Given the description of an element on the screen output the (x, y) to click on. 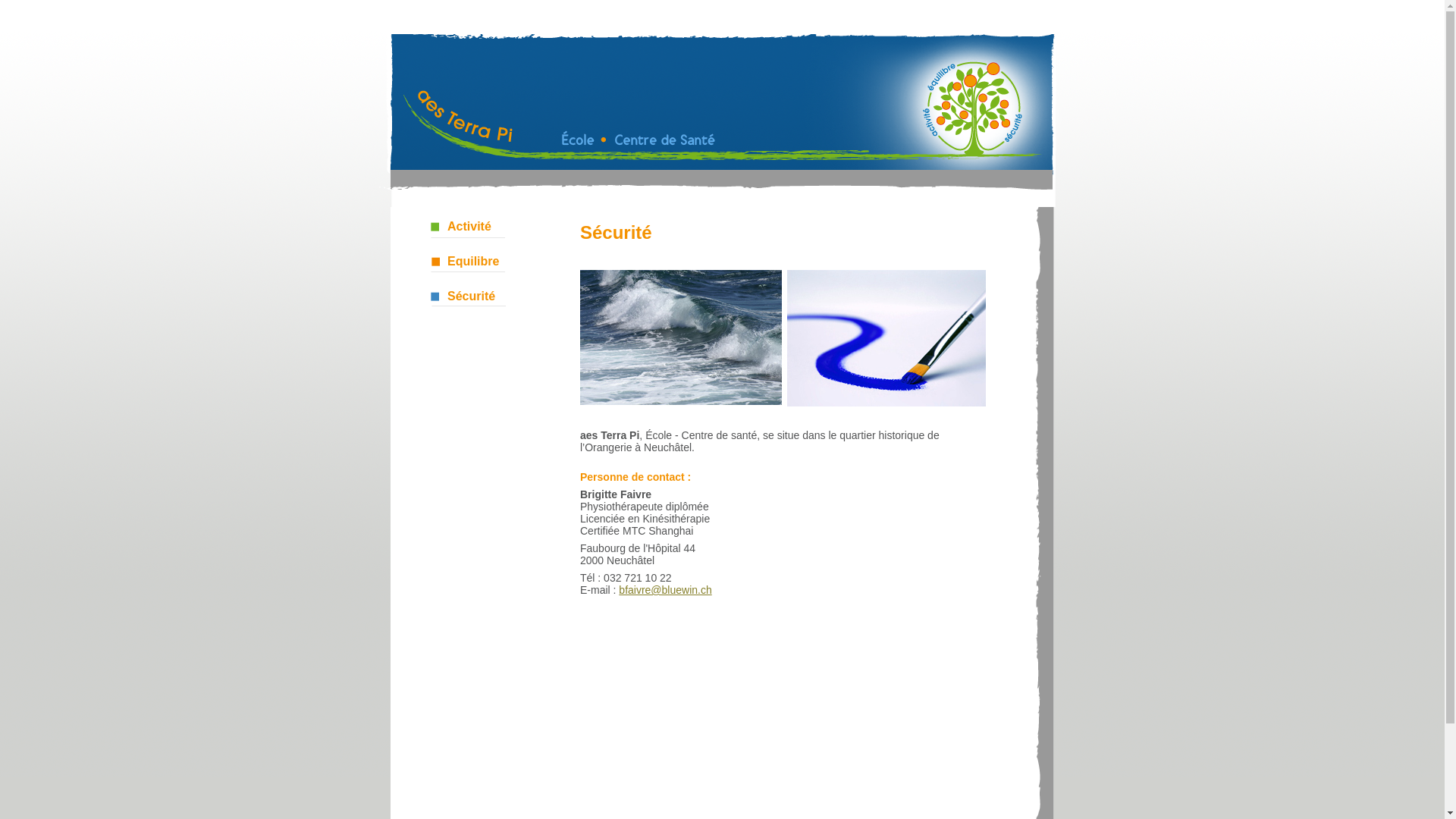
bfaivre@bluewin.ch Element type: text (664, 589)
Equilibre Element type: text (468, 258)
